Given the description of an element on the screen output the (x, y) to click on. 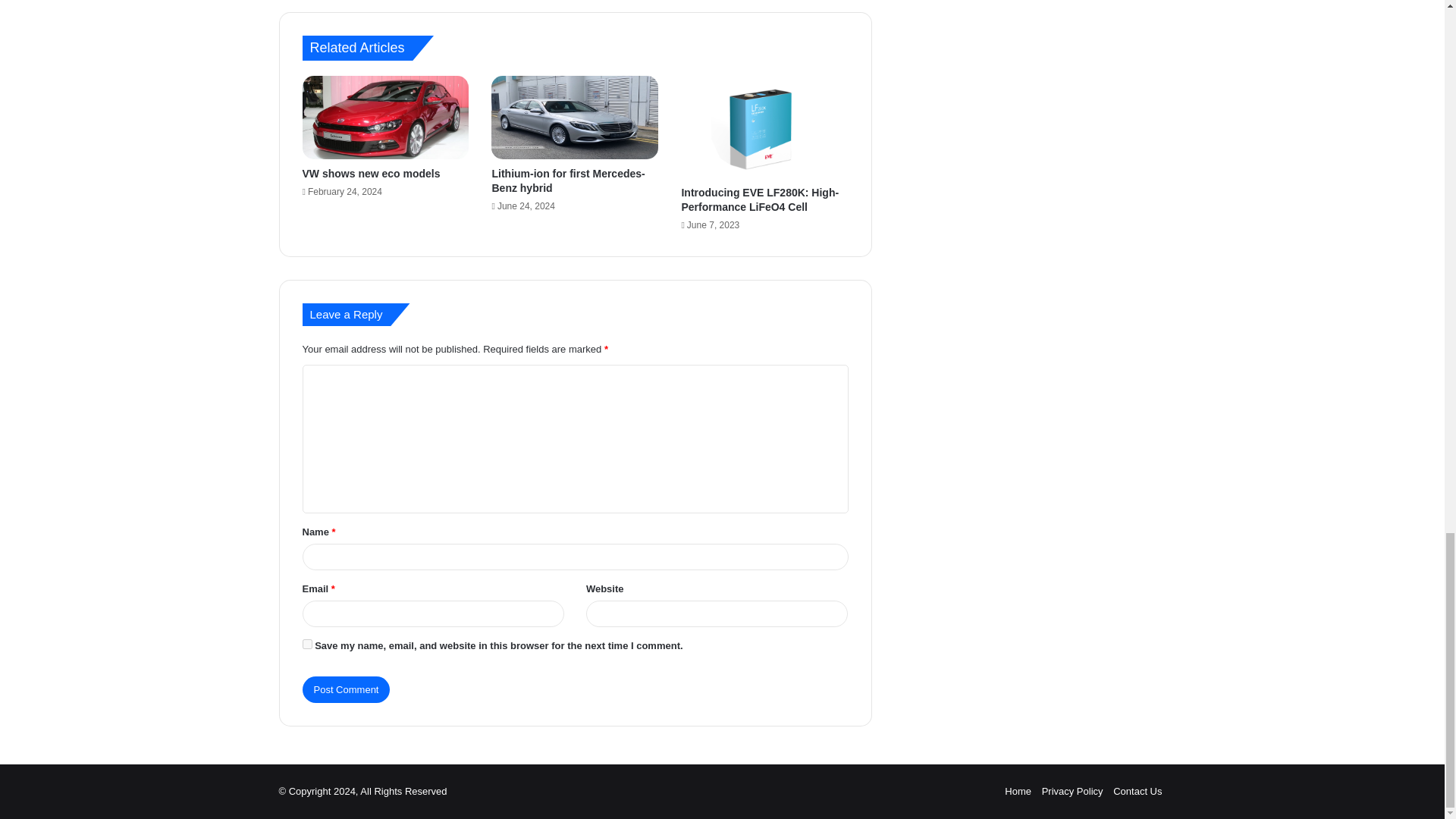
Post Comment (345, 689)
VW shows new eco models (370, 173)
yes (306, 644)
Lithium-ion for first Mercedes-Benz hybrid (568, 180)
